Given the description of an element on the screen output the (x, y) to click on. 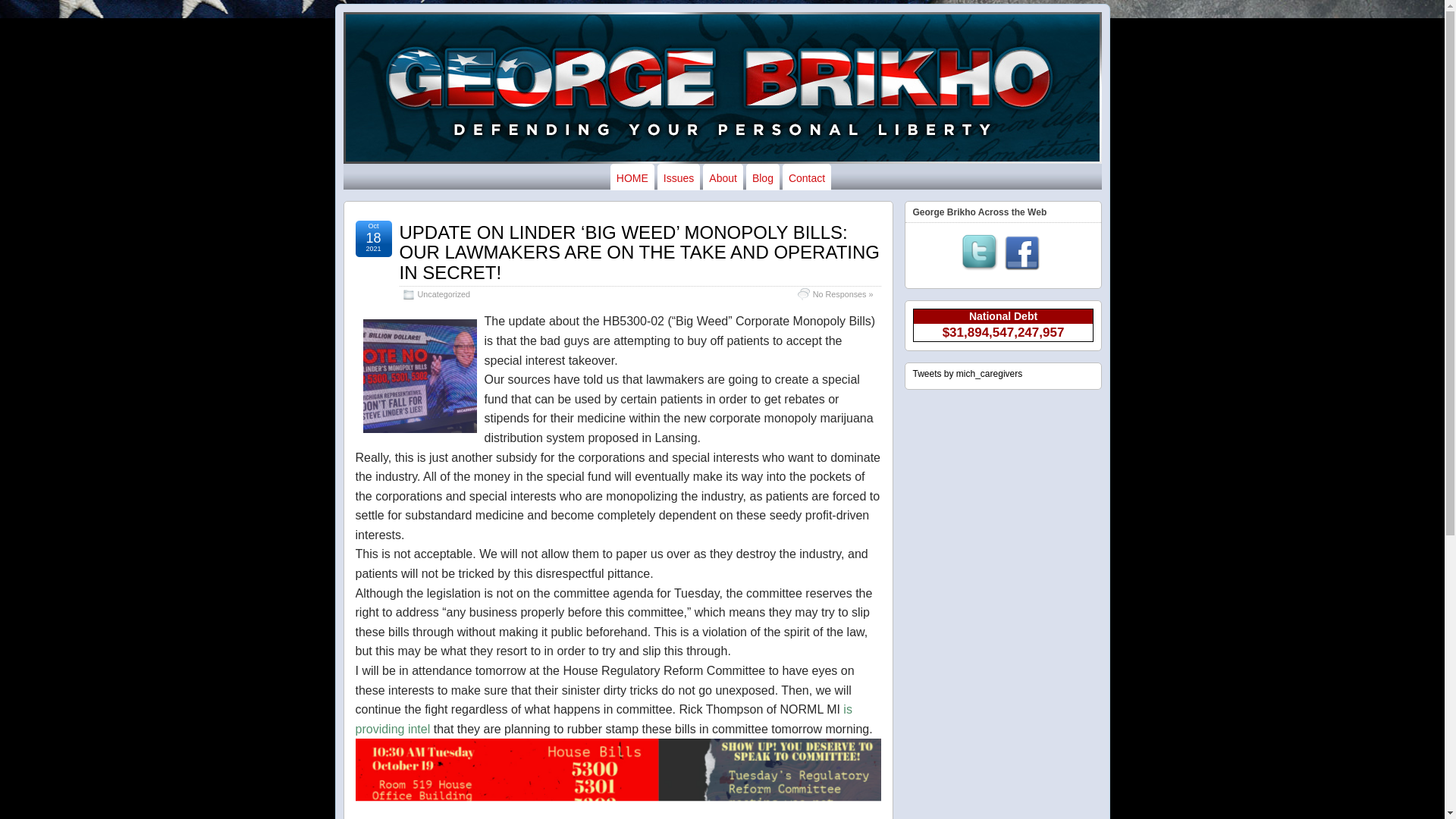
is providing intel (603, 718)
Issues (679, 176)
GEORGE BRIKHO (409, 59)
Blog (761, 176)
Uncategorized (443, 293)
Twitter (978, 253)
HOME (631, 176)
Facebook (1022, 253)
Contact (807, 176)
About (722, 176)
